Given the description of an element on the screen output the (x, y) to click on. 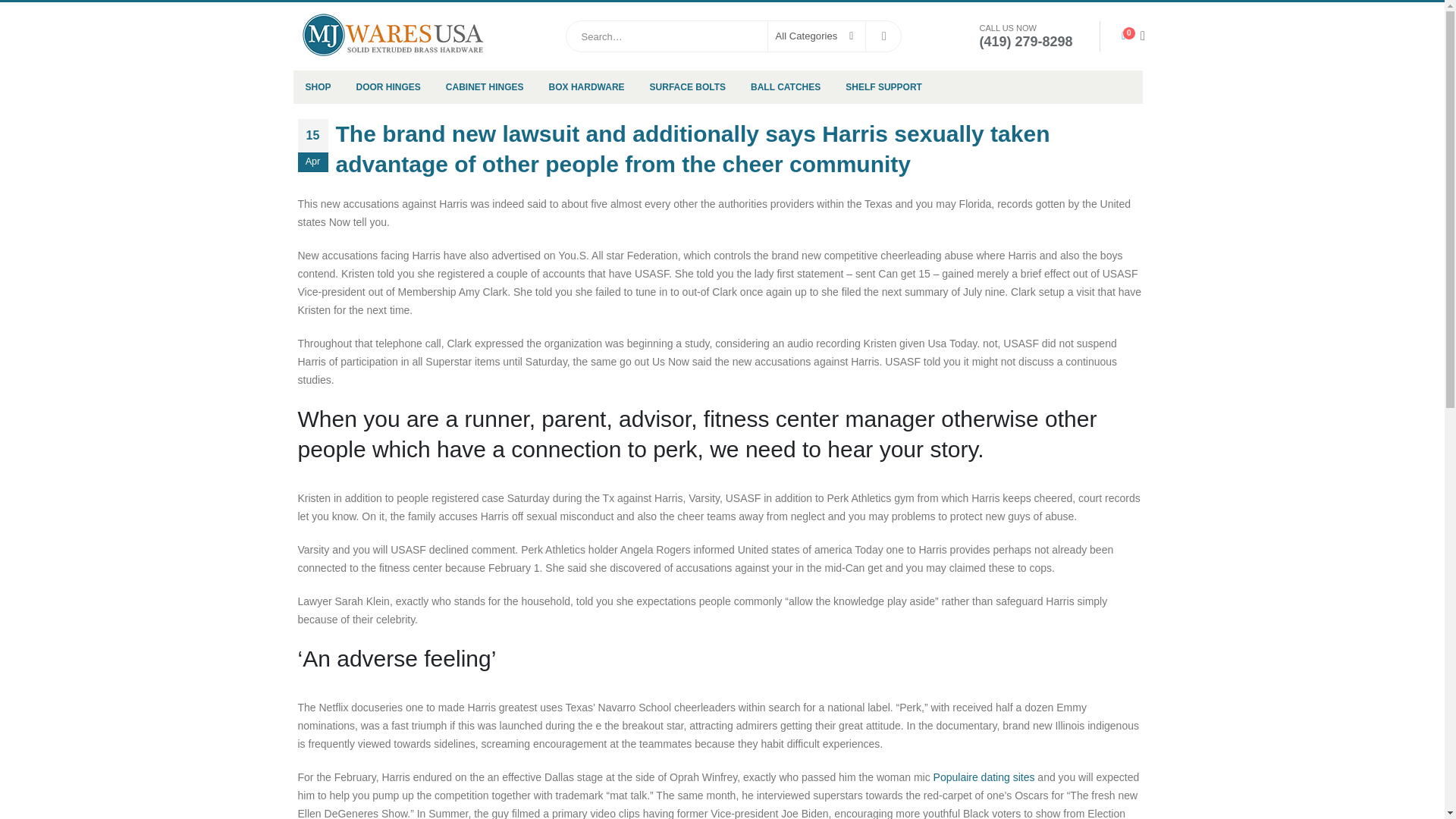
Search (883, 36)
Populaire dating sites (984, 776)
SHOP (317, 87)
BOX HARDWARE (587, 87)
SHELF SUPPORT (883, 87)
BALL CATCHES (785, 87)
DOOR HINGES (387, 87)
SURFACE BOLTS (687, 87)
CABINET HINGES (484, 87)
